Given the description of an element on the screen output the (x, y) to click on. 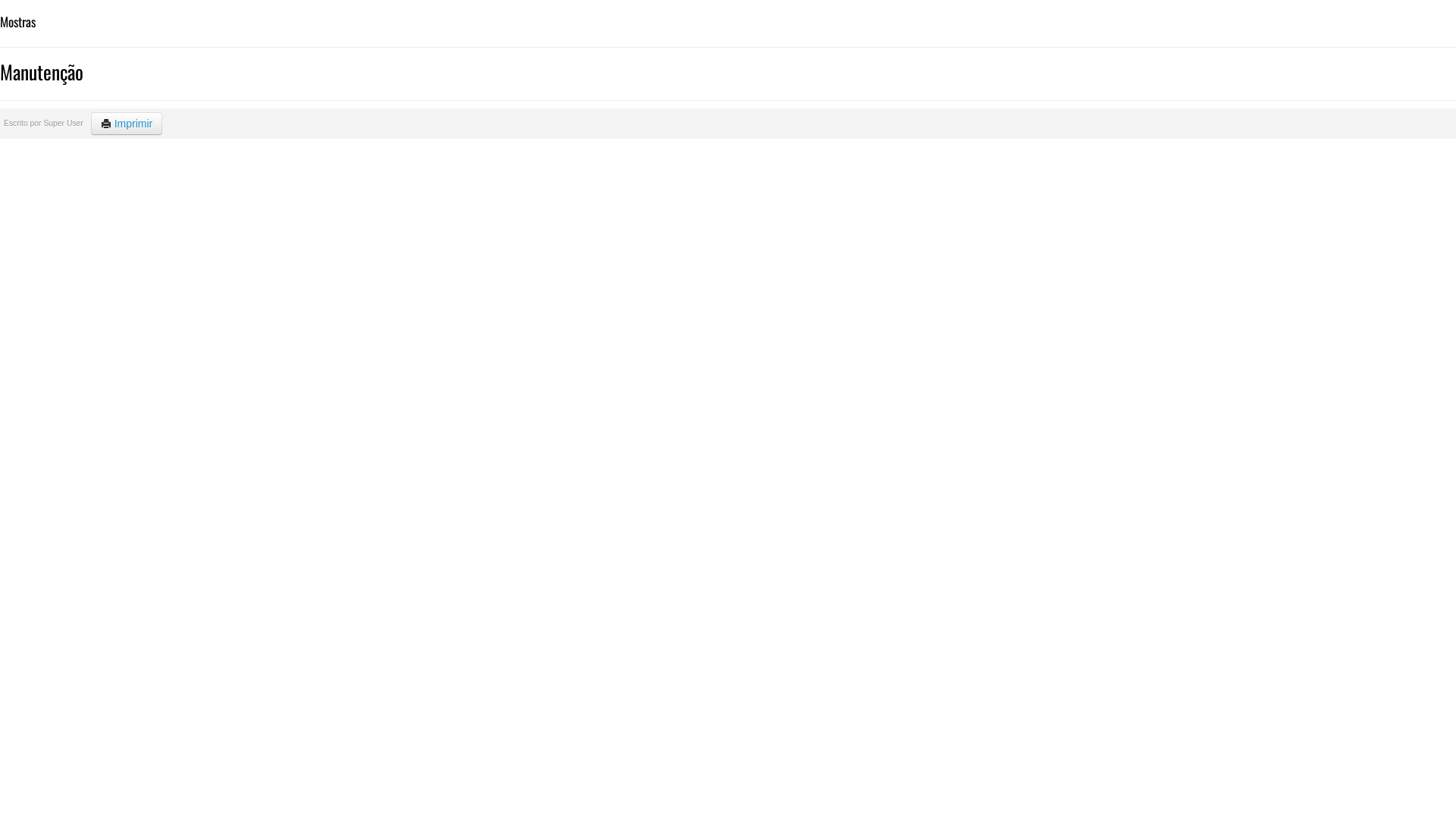
Imprimir Element type: text (126, 123)
